Given the description of an element on the screen output the (x, y) to click on. 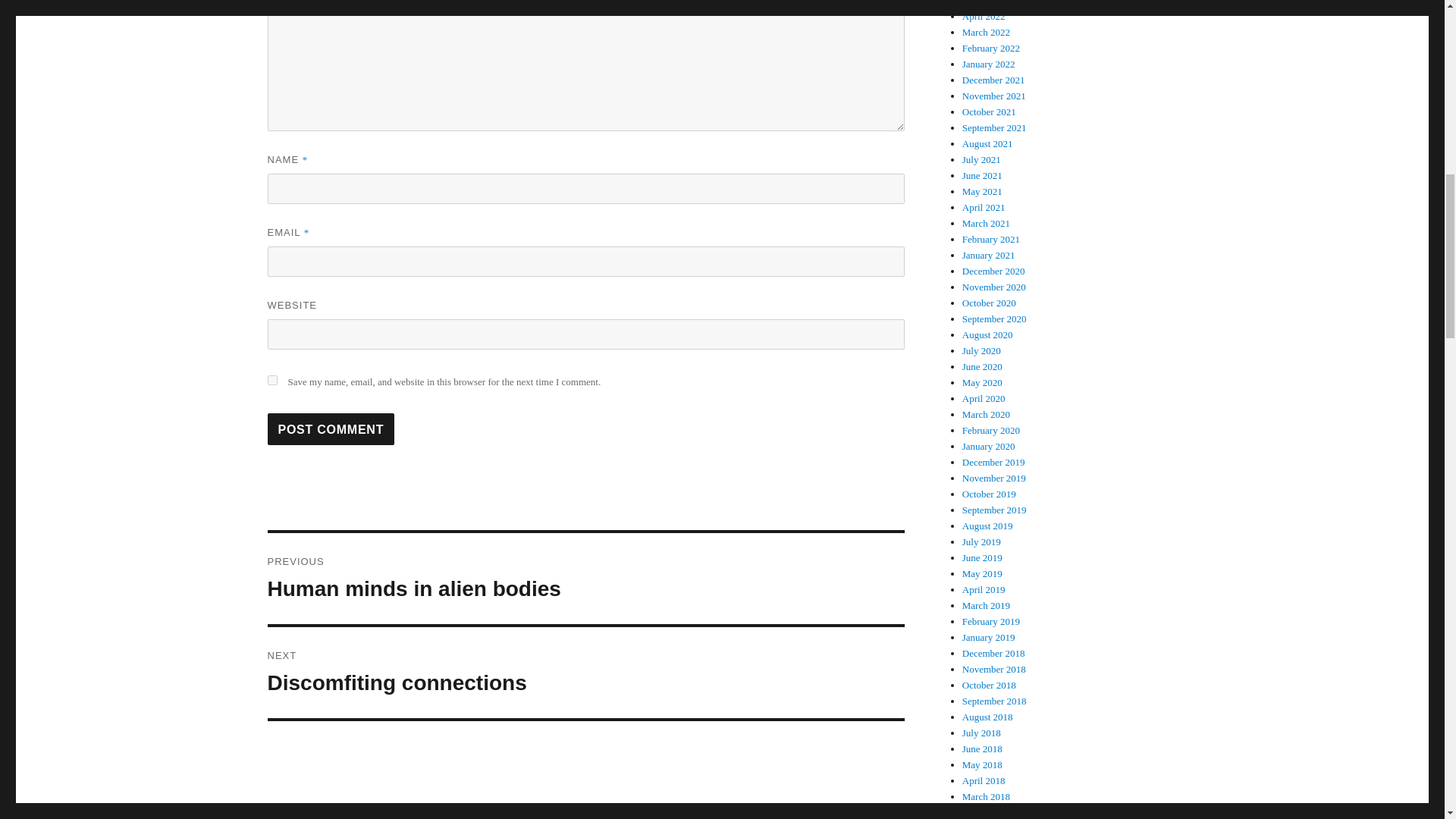
Post Comment (330, 429)
March 2022 (986, 31)
April 2022 (984, 16)
Post Comment (585, 672)
yes (330, 429)
May 2022 (585, 578)
